Given the description of an element on the screen output the (x, y) to click on. 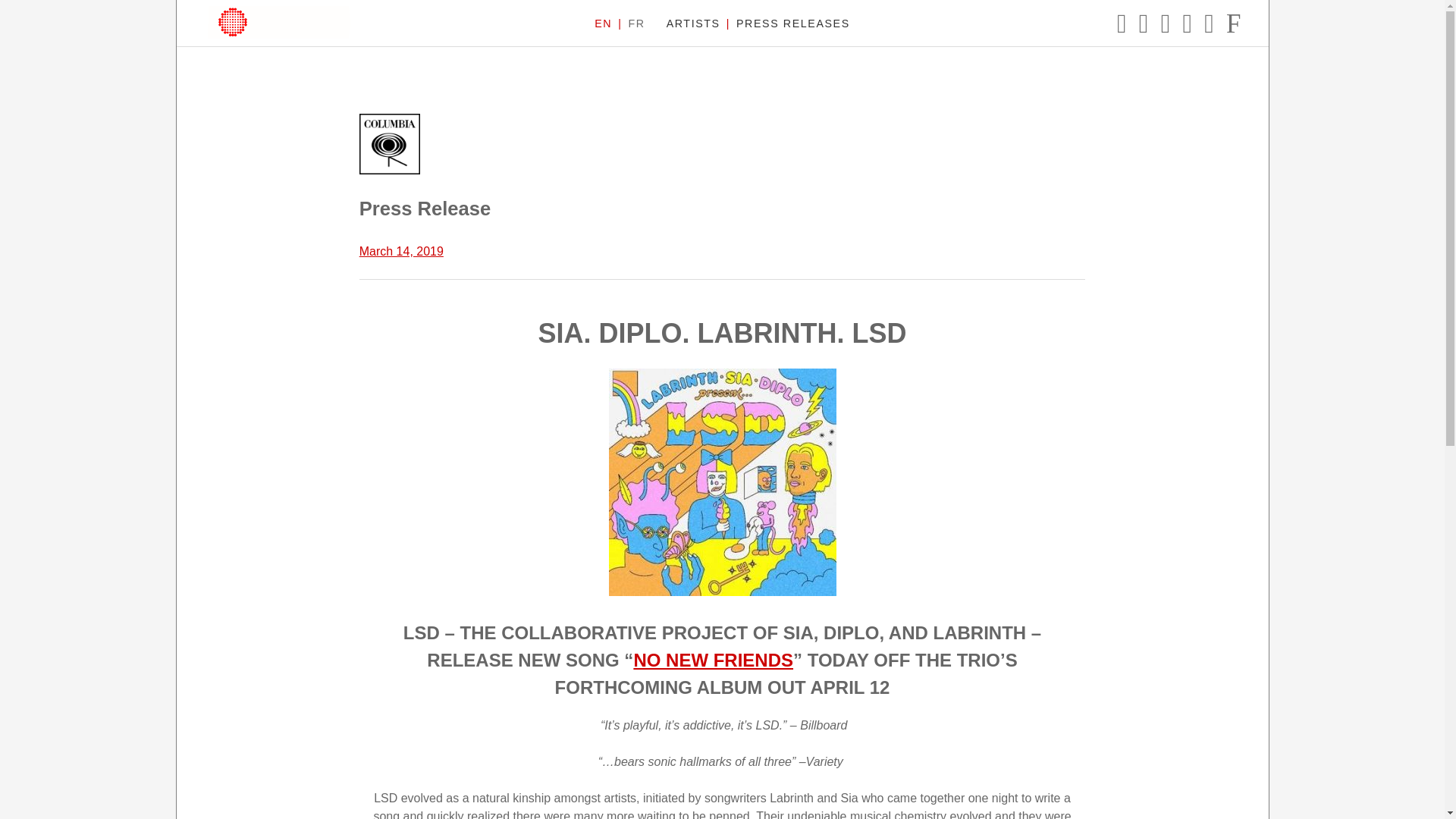
PRESS RELEASES (793, 23)
EN (602, 23)
Sony Music Canada (278, 21)
English (602, 23)
NO NEW FRIENDS (713, 660)
ARTISTS (693, 23)
FR (636, 23)
March 14, 2019 (401, 250)
